Given the description of an element on the screen output the (x, y) to click on. 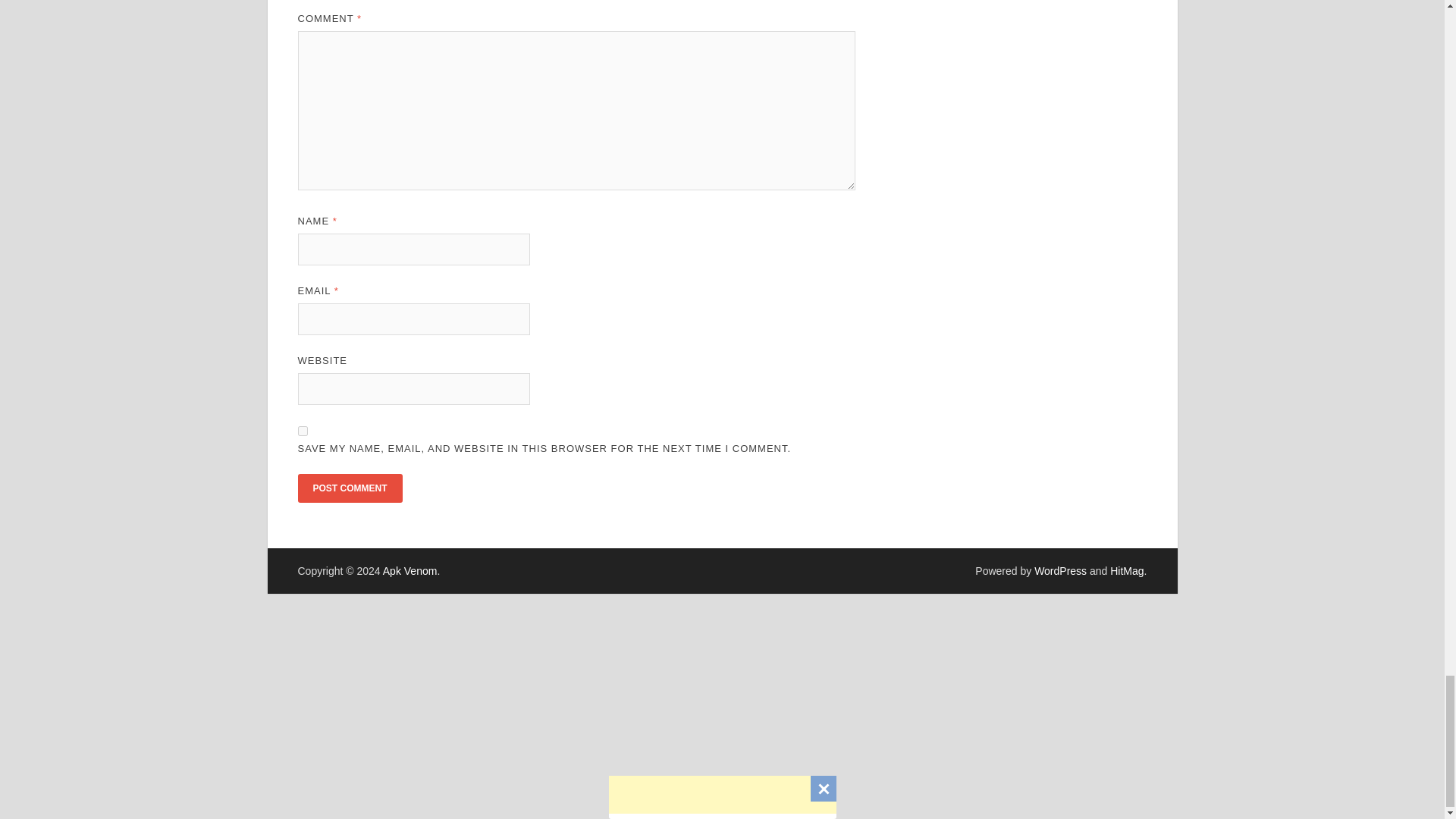
HitMag WordPress Theme (1125, 571)
Post Comment (349, 488)
yes (302, 430)
WordPress (1059, 571)
Apk Venom (410, 571)
